Given the description of an element on the screen output the (x, y) to click on. 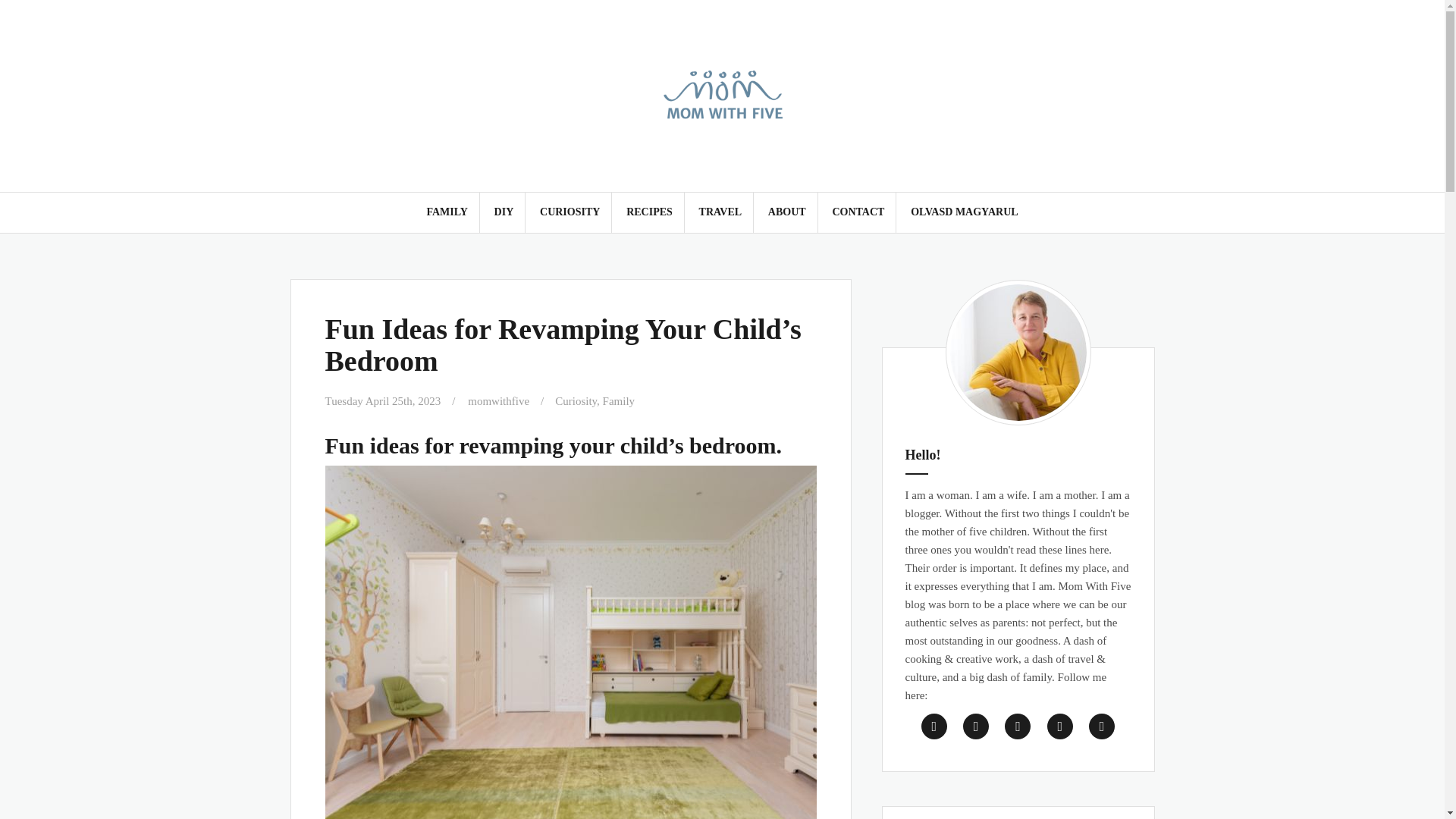
Family (618, 400)
CURIOSITY (569, 211)
momwithfive (498, 400)
RECIPES (649, 211)
Olvasd magyarul (964, 211)
CONTACT (857, 211)
Curiosity (575, 400)
TRAVEL (720, 211)
Tuesday April 25th, 2023 (382, 400)
